Given the description of an element on the screen output the (x, y) to click on. 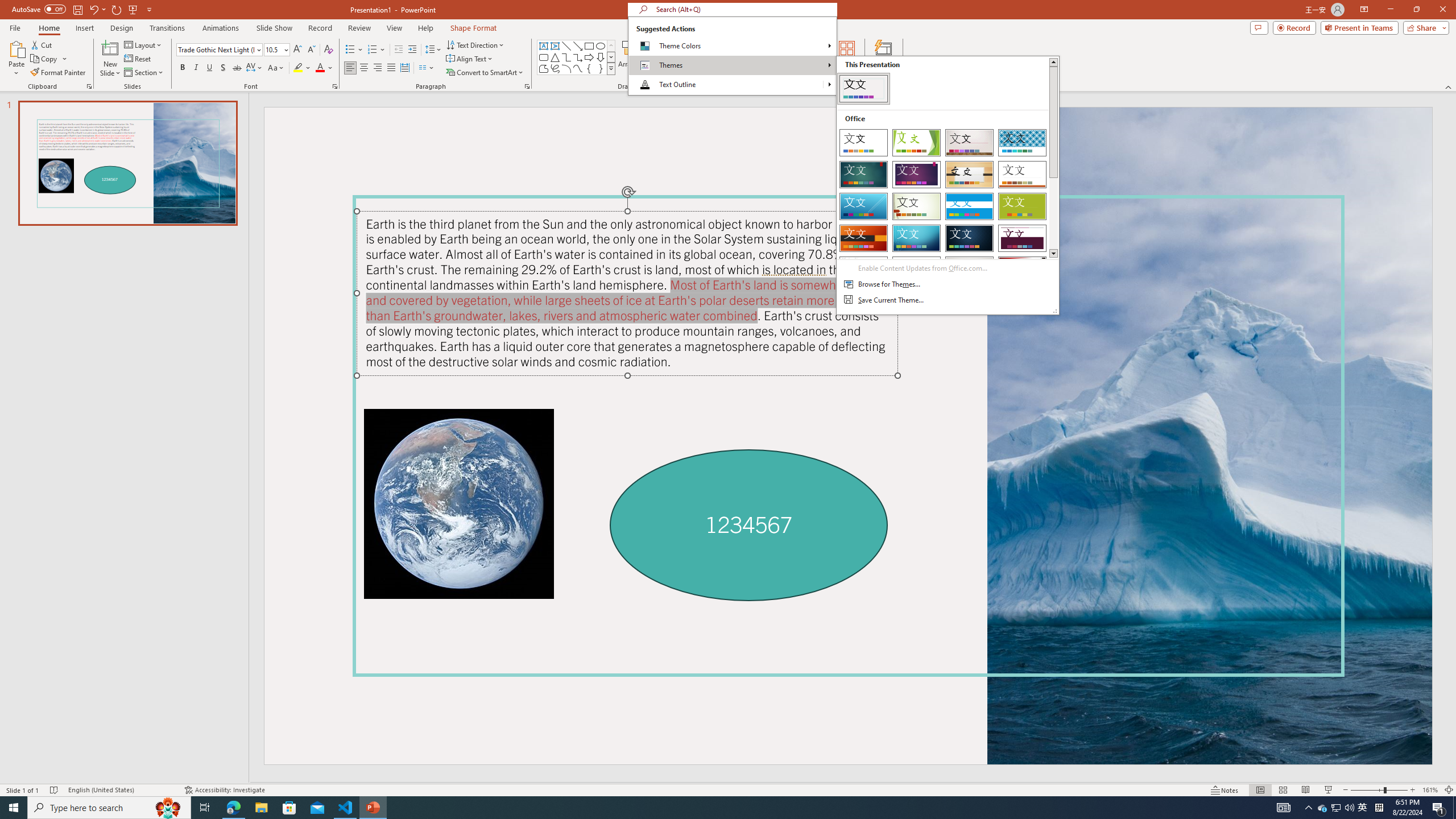
Distributed (404, 67)
Underline (209, 67)
Shape Outline (701, 56)
Strikethrough (237, 67)
Layout (143, 44)
